Given the description of an element on the screen output the (x, y) to click on. 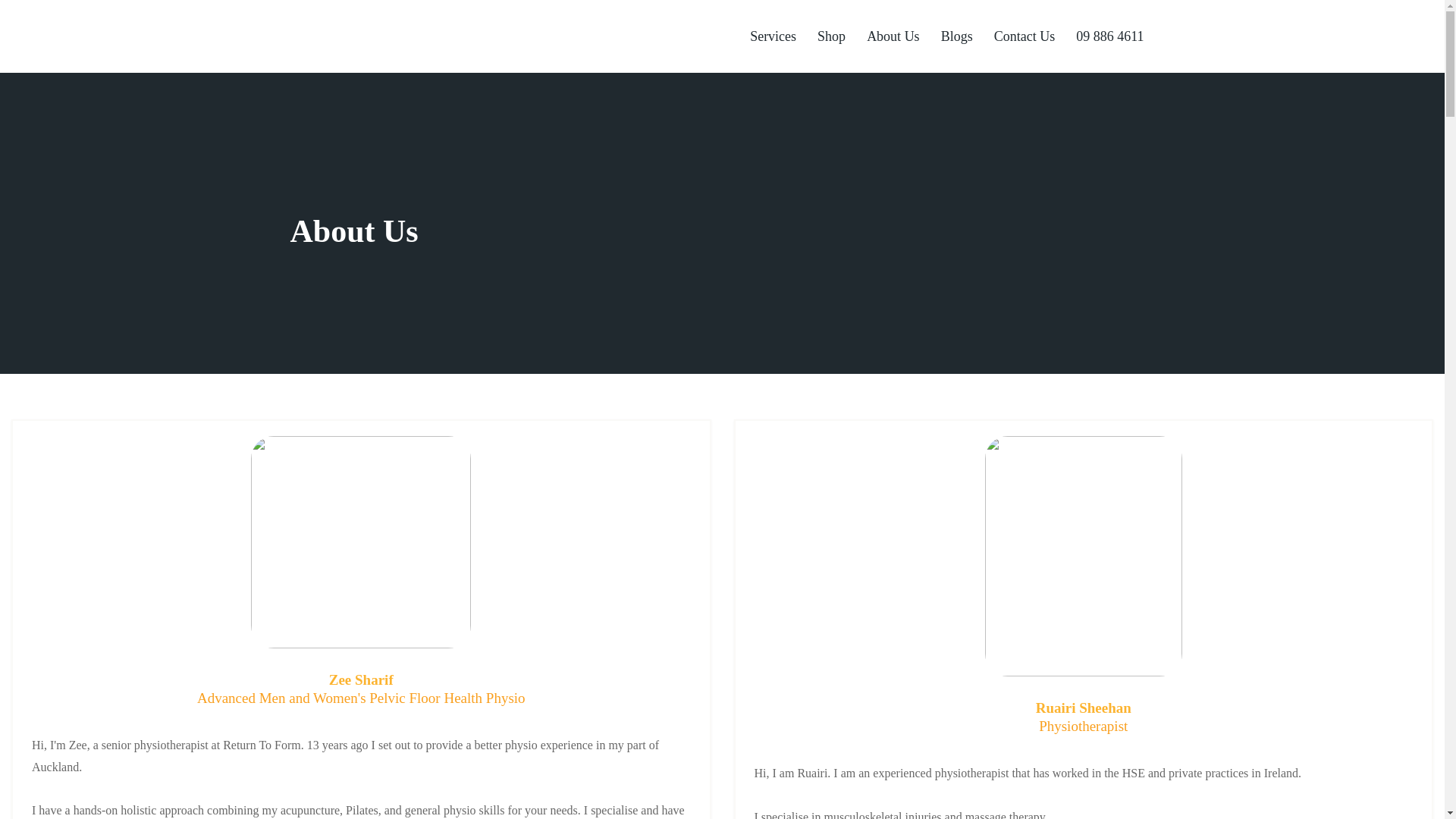
Contact Us (1024, 36)
Services (772, 36)
About Us (893, 36)
Shop (831, 36)
Blogs (957, 36)
09 886 4611 (1109, 36)
